Given the description of an element on the screen output the (x, y) to click on. 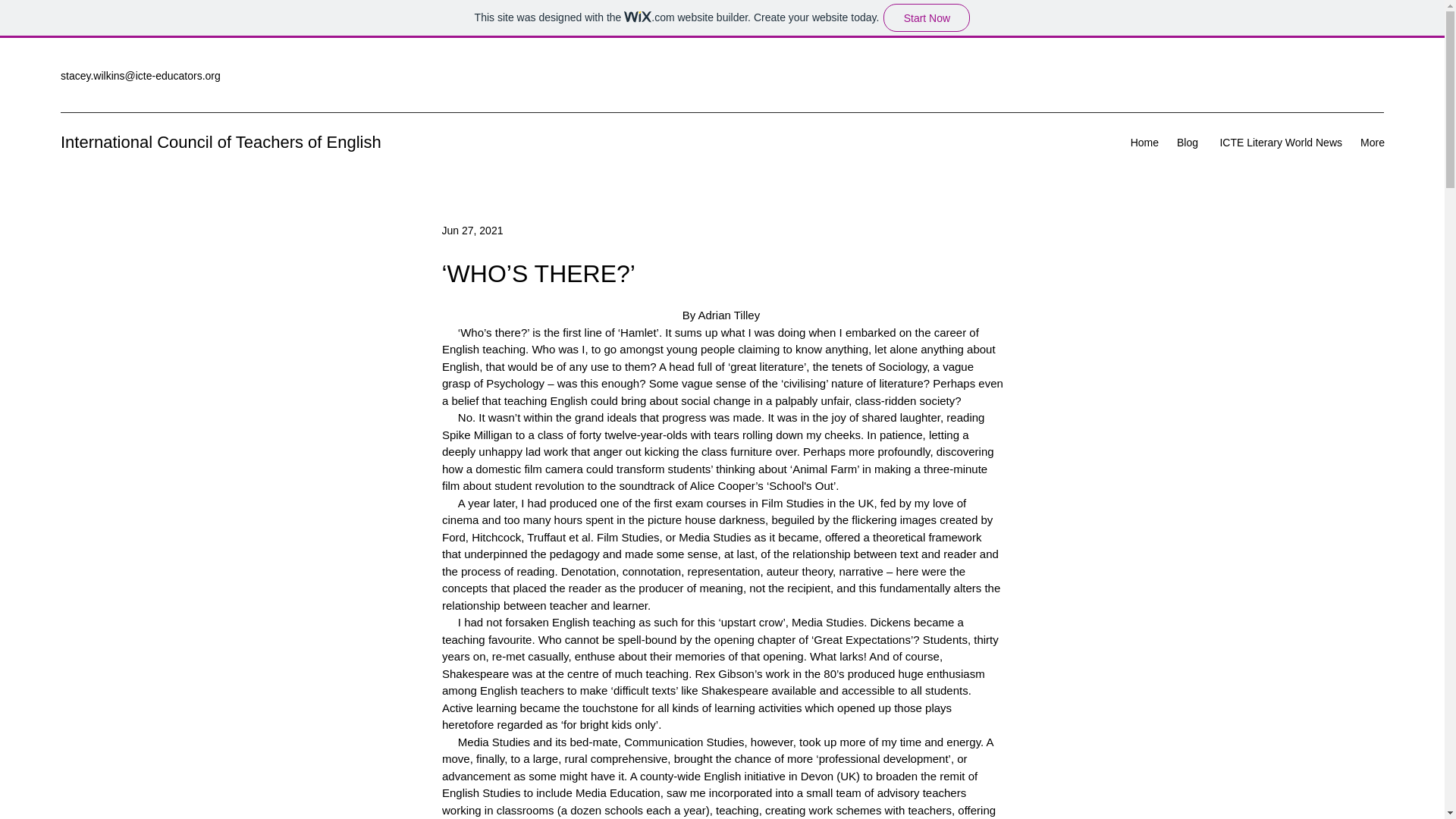
ICTE Literary World News (1277, 142)
Home (1142, 142)
Jun 27, 2021 (471, 230)
International Council of Teachers of English (221, 141)
Blog (1185, 142)
